Given the description of an element on the screen output the (x, y) to click on. 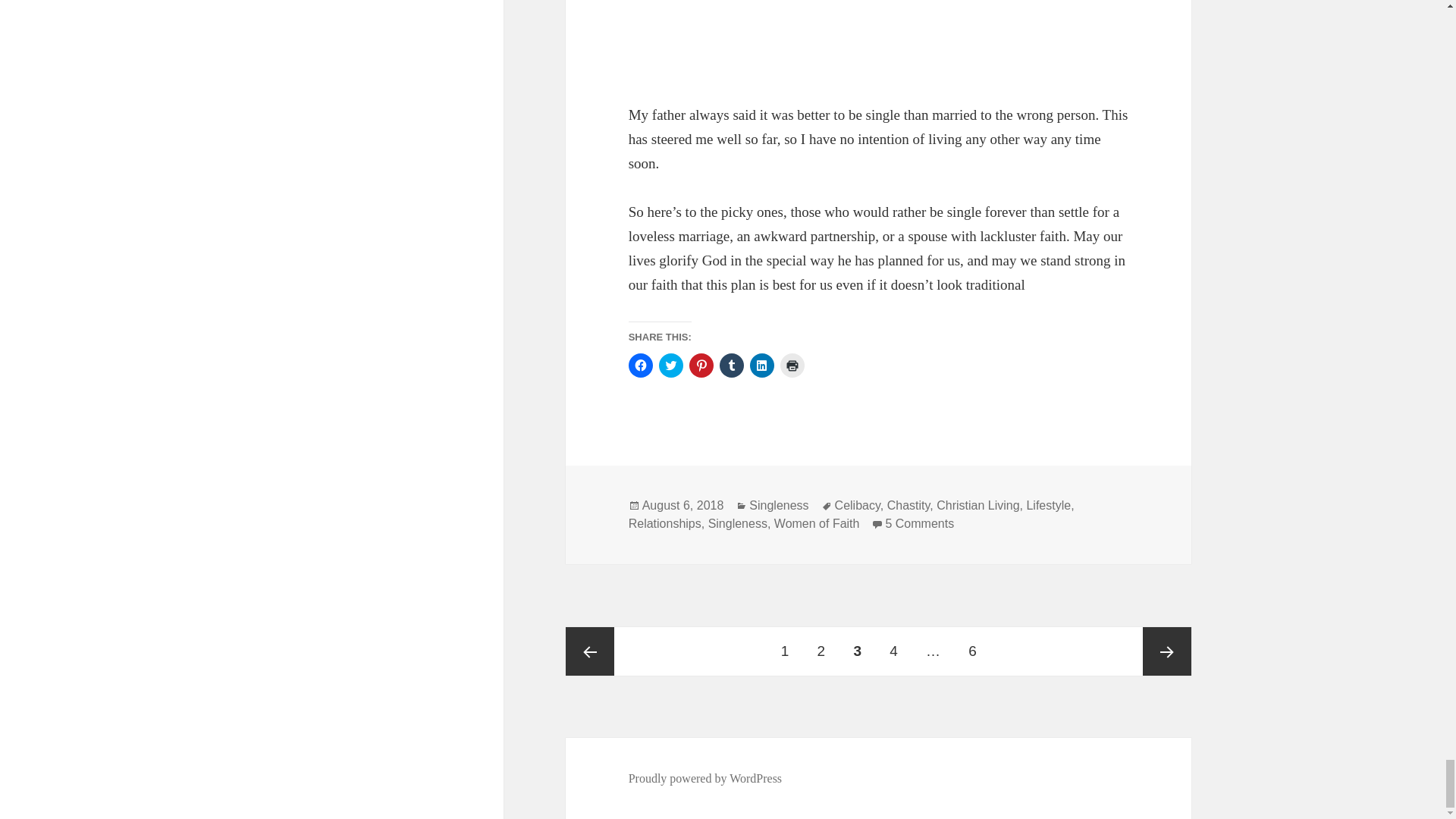
Click to share on Pinterest (700, 364)
Click to share on Twitter (670, 364)
Click to share on Facebook (640, 364)
